Given the description of an element on the screen output the (x, y) to click on. 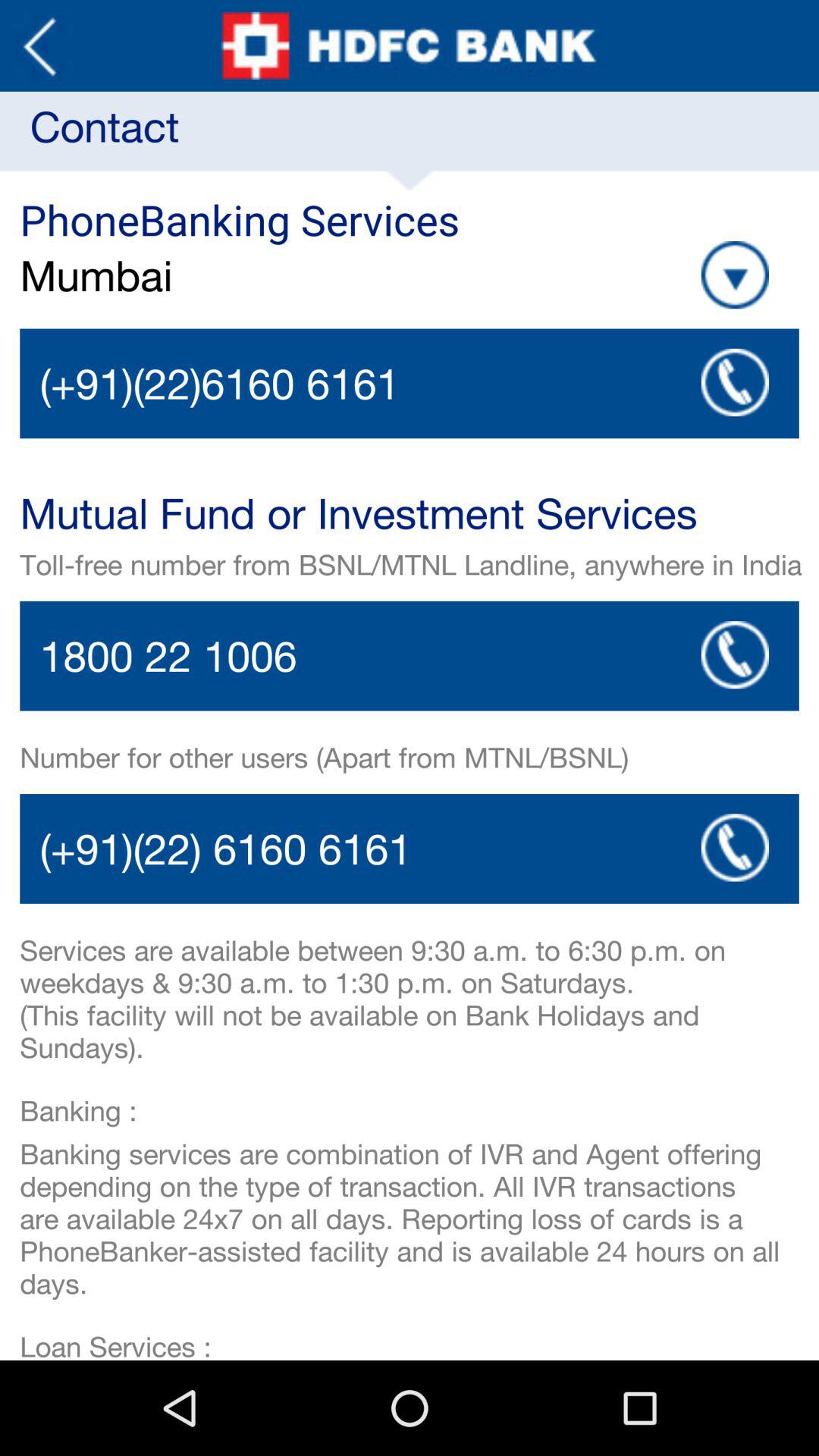
click item next to the 1800 22 1006 app (734, 654)
